Given the description of an element on the screen output the (x, y) to click on. 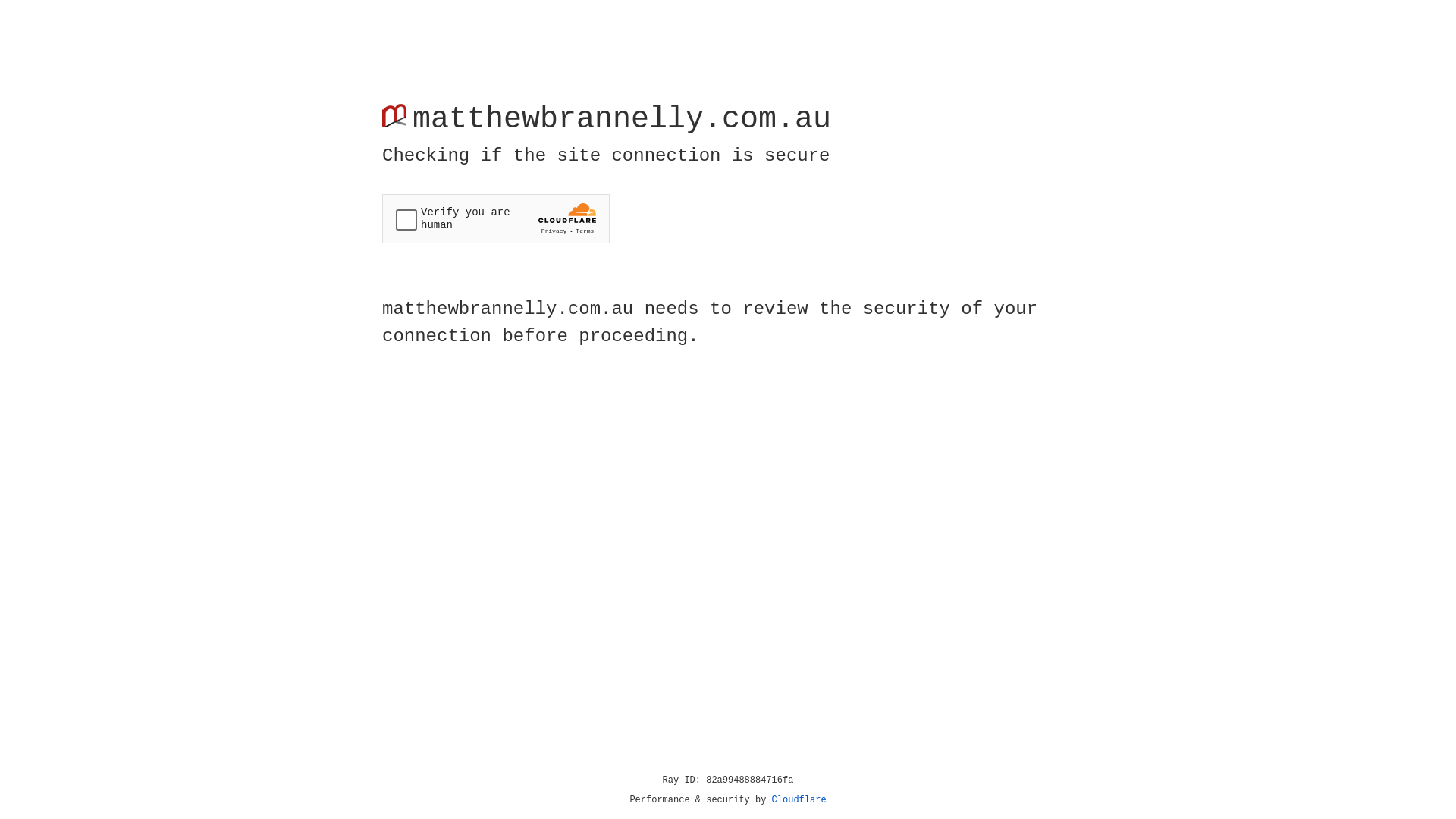
Cloudflare Element type: text (798, 799)
Widget containing a Cloudflare security challenge Element type: hover (495, 218)
